Given the description of an element on the screen output the (x, y) to click on. 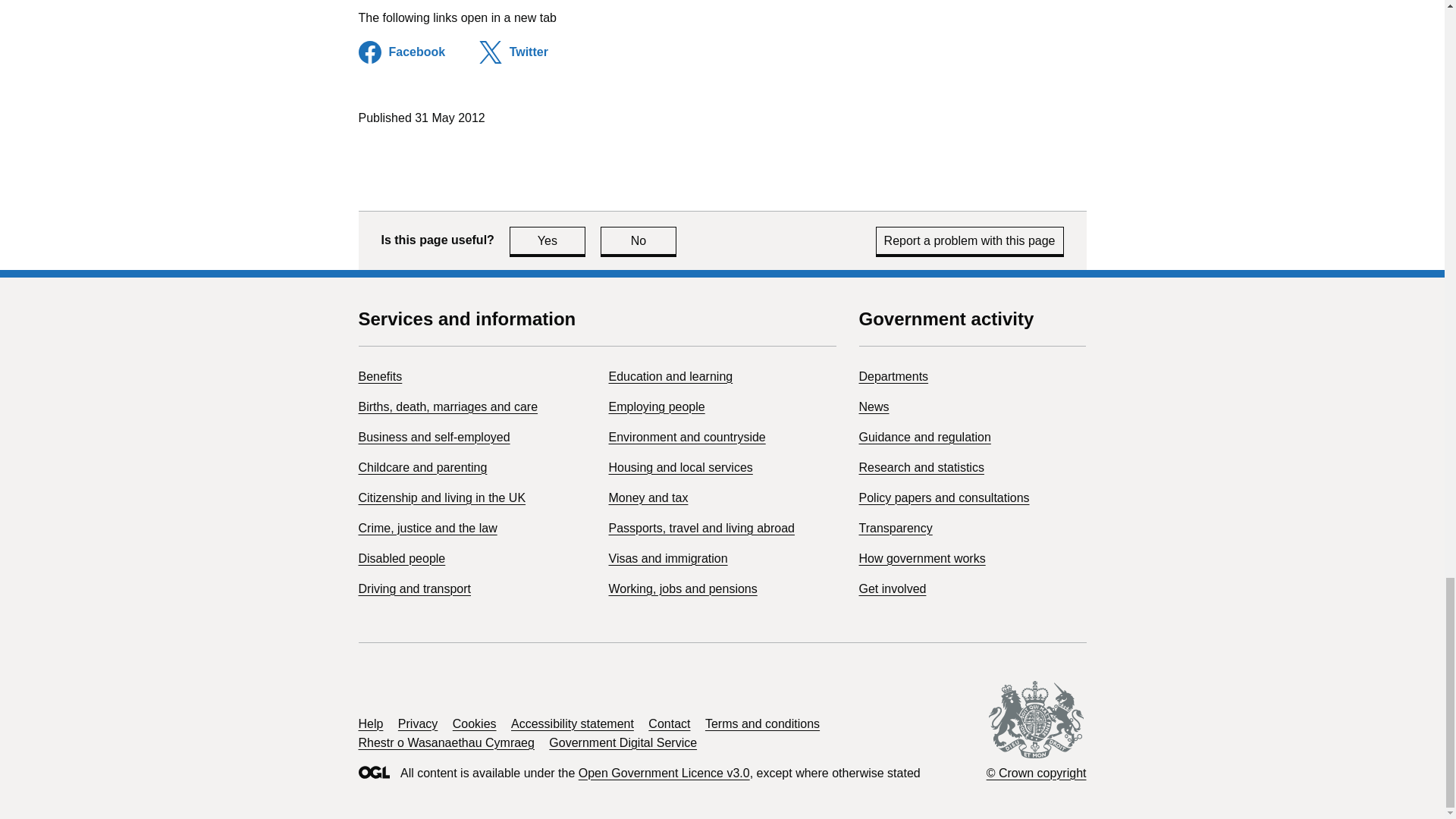
Passports, travel and living abroad (700, 527)
Births, death, marriages and care (447, 406)
Employing people (656, 406)
Driving and transport (414, 588)
Research and statistics (921, 467)
Crime, justice and the law (427, 527)
Housing and local services (680, 467)
Money and tax (647, 497)
Citizenship and living in the UK (547, 240)
Departments (638, 240)
Policy papers and consultations (441, 497)
Visas and immigration (893, 376)
Benefits (944, 497)
